Given the description of an element on the screen output the (x, y) to click on. 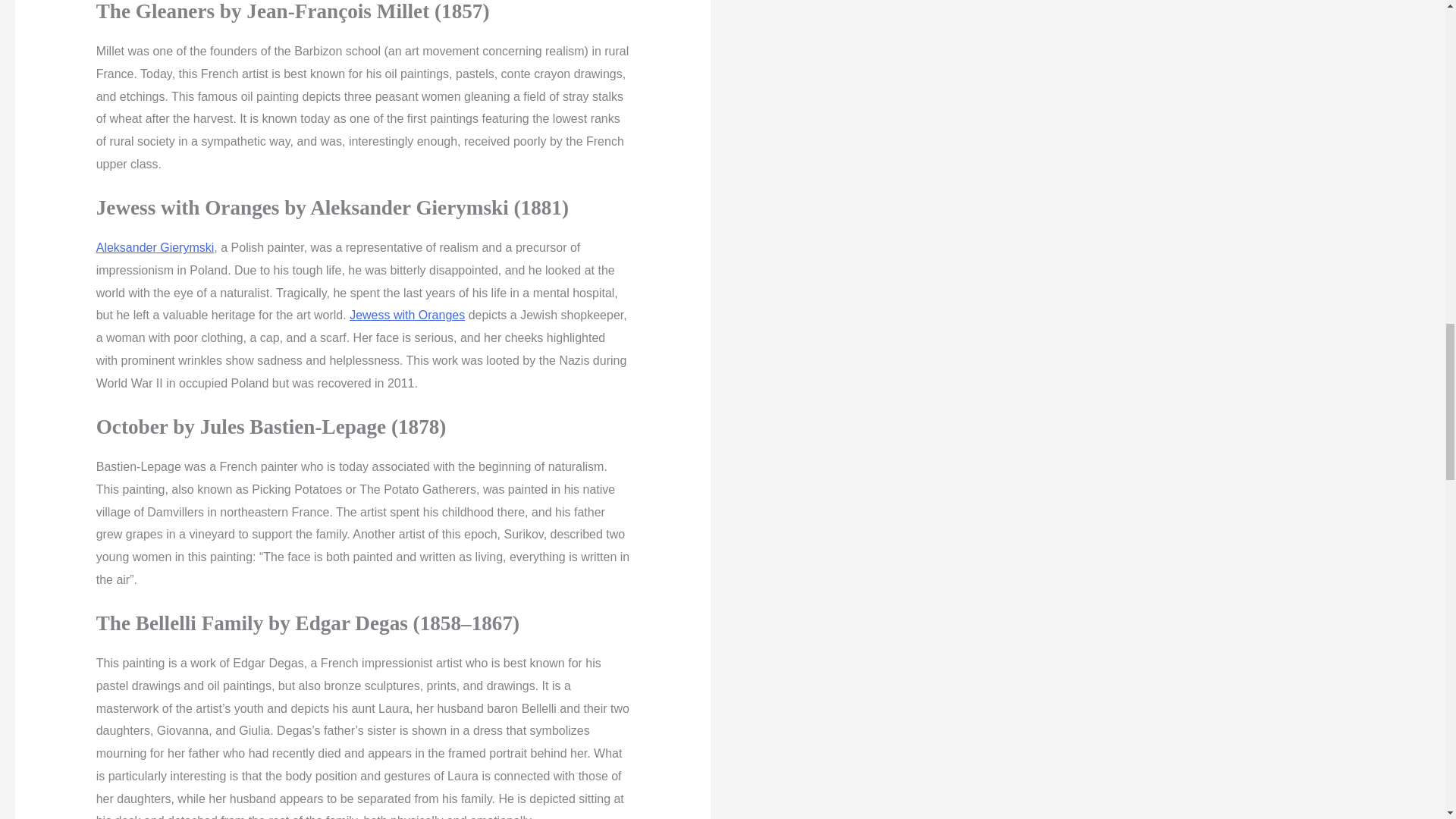
Jewess with Oranges (406, 314)
Aleksander Gierymski (155, 246)
